Given the description of an element on the screen output the (x, y) to click on. 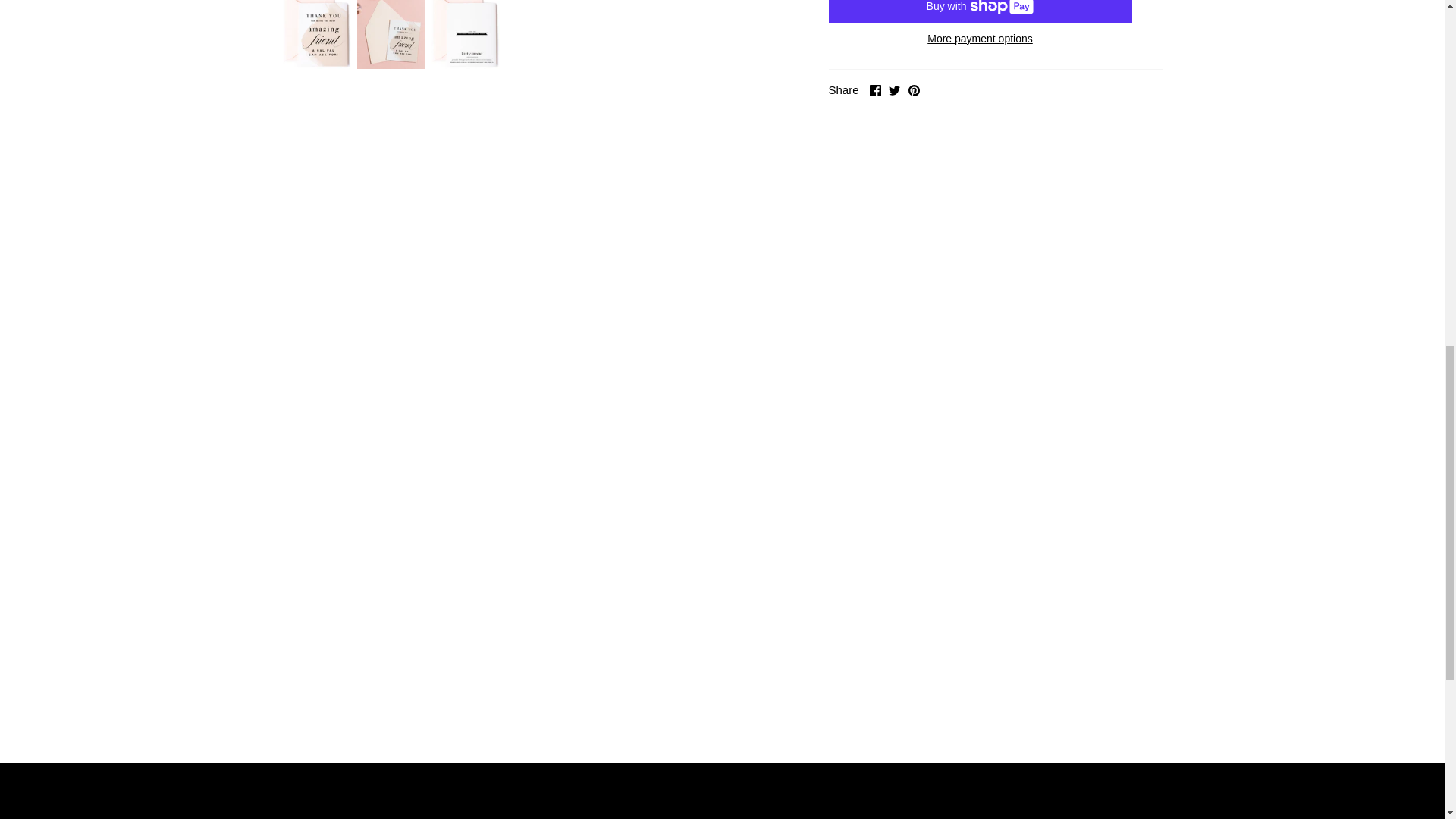
Twitter (893, 90)
Facebook (874, 90)
Pinterest (914, 90)
